Given the description of an element on the screen output the (x, y) to click on. 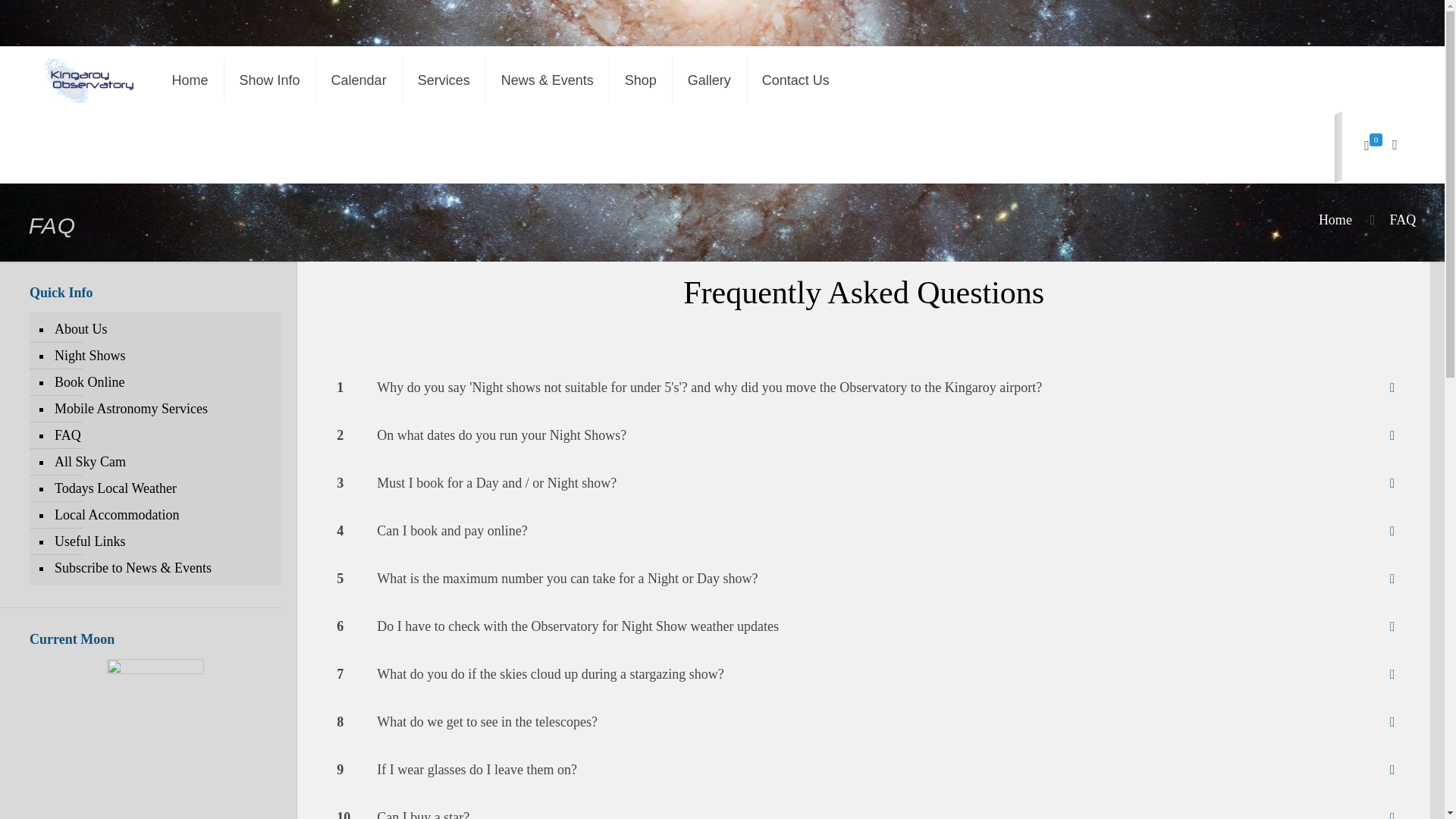
Contact Us (795, 79)
Show Info (269, 79)
Shop (641, 79)
Home (1335, 219)
Services (444, 79)
Night Shows (162, 356)
Book Online (162, 382)
About Us (162, 329)
Calendar (359, 79)
Gallery (709, 79)
Home (189, 79)
0 (1372, 145)
